Given the description of an element on the screen output the (x, y) to click on. 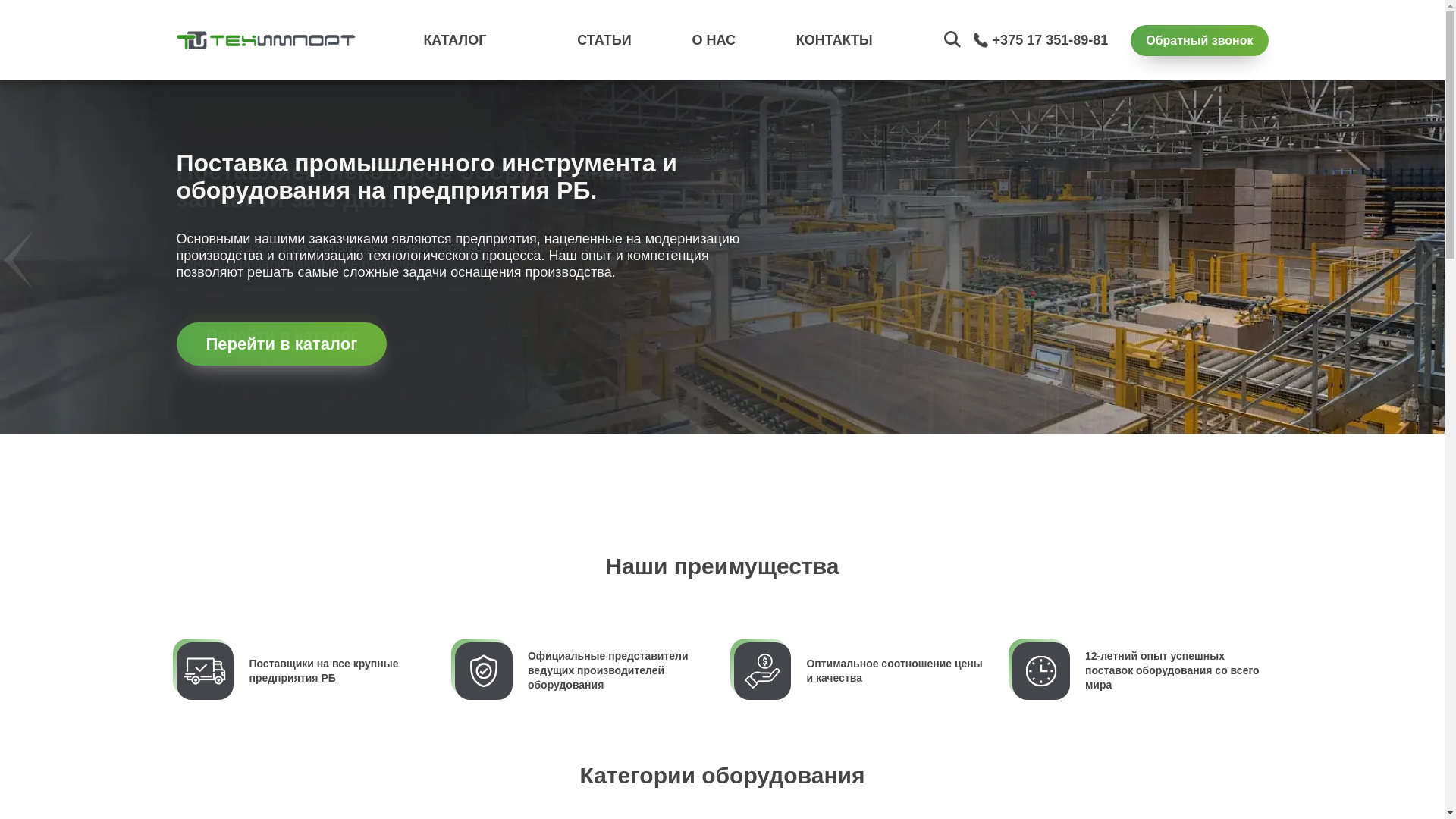
+375 17 351-89-81 Element type: text (1050, 40)
